Given the description of an element on the screen output the (x, y) to click on. 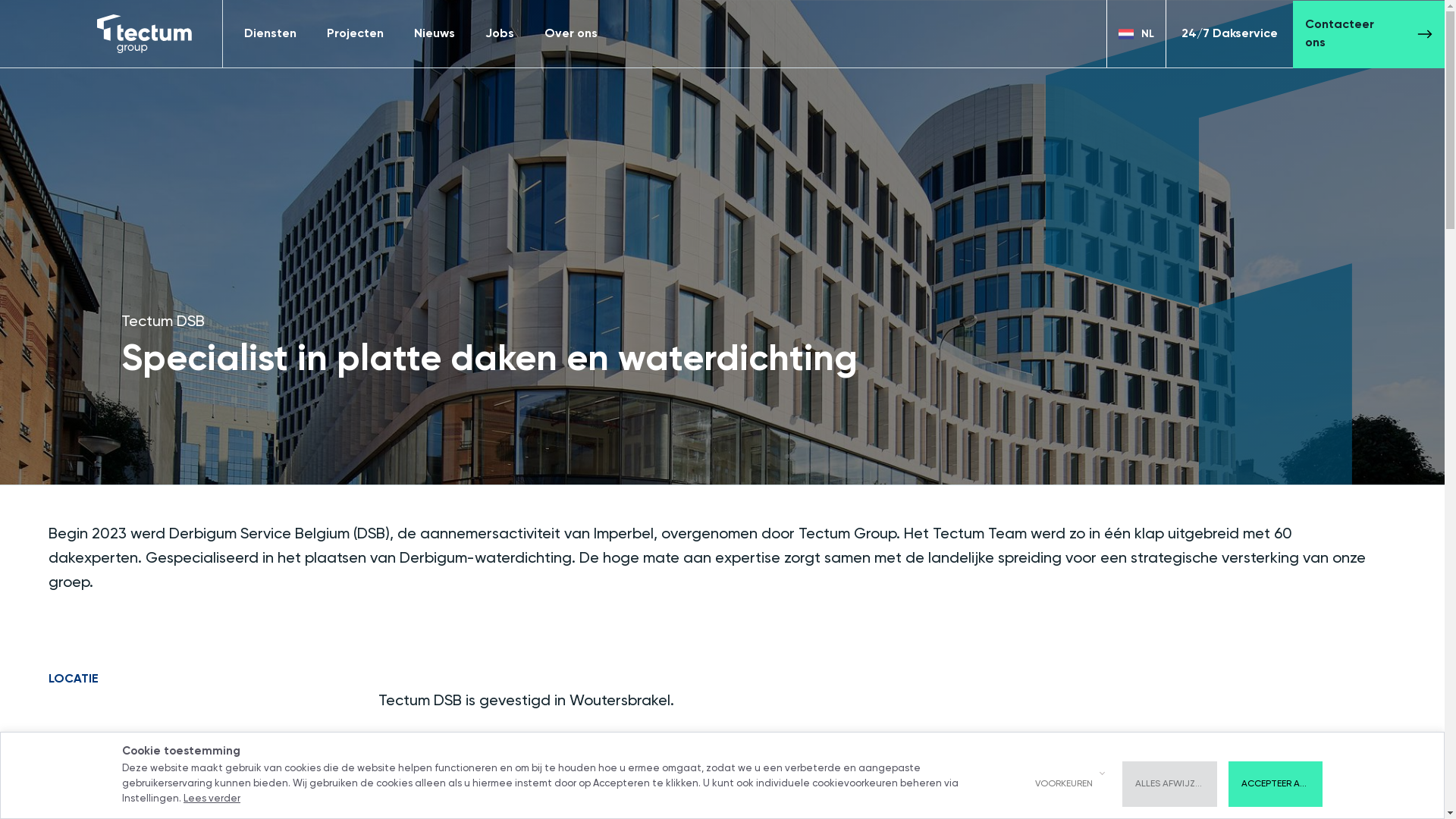
Over ons Element type: text (570, 34)
Jobs Element type: text (499, 34)
Diensten Element type: text (270, 34)
VOORKEUREN Element type: text (1063, 783)
ACCEPTEER ALLES Element type: text (1275, 783)
ALLES AFWIJZEN Element type: text (1169, 783)
Projecten Element type: text (354, 33)
Contacteer ons Element type: text (1368, 33)
Lees verder Element type: text (211, 798)
24/7 Dakservice Element type: text (1229, 33)
Nieuws Element type: text (434, 33)
